Given the description of an element on the screen output the (x, y) to click on. 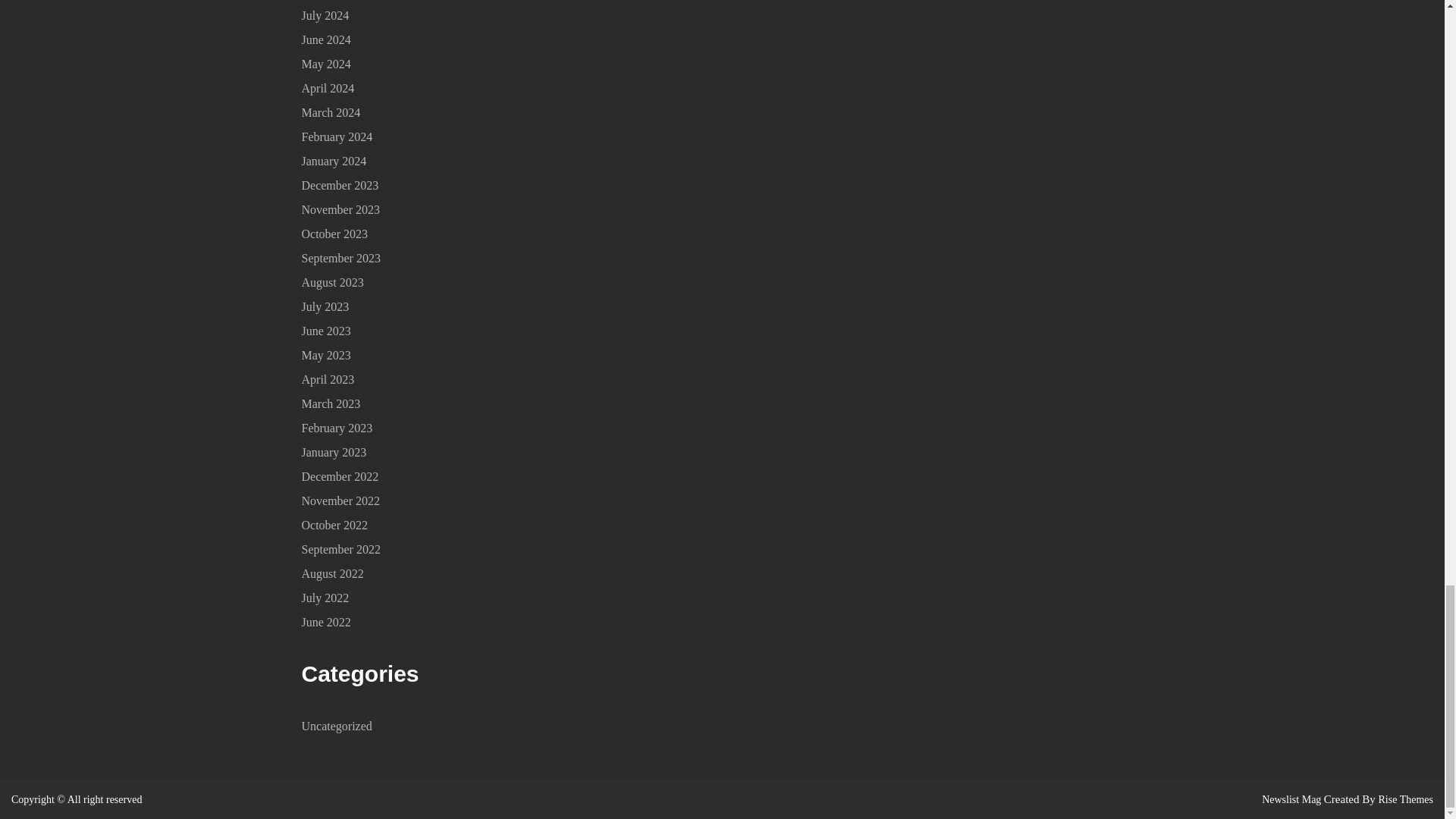
June 2024 (325, 39)
May 2024 (325, 63)
July 2024 (325, 15)
